Given the description of an element on the screen output the (x, y) to click on. 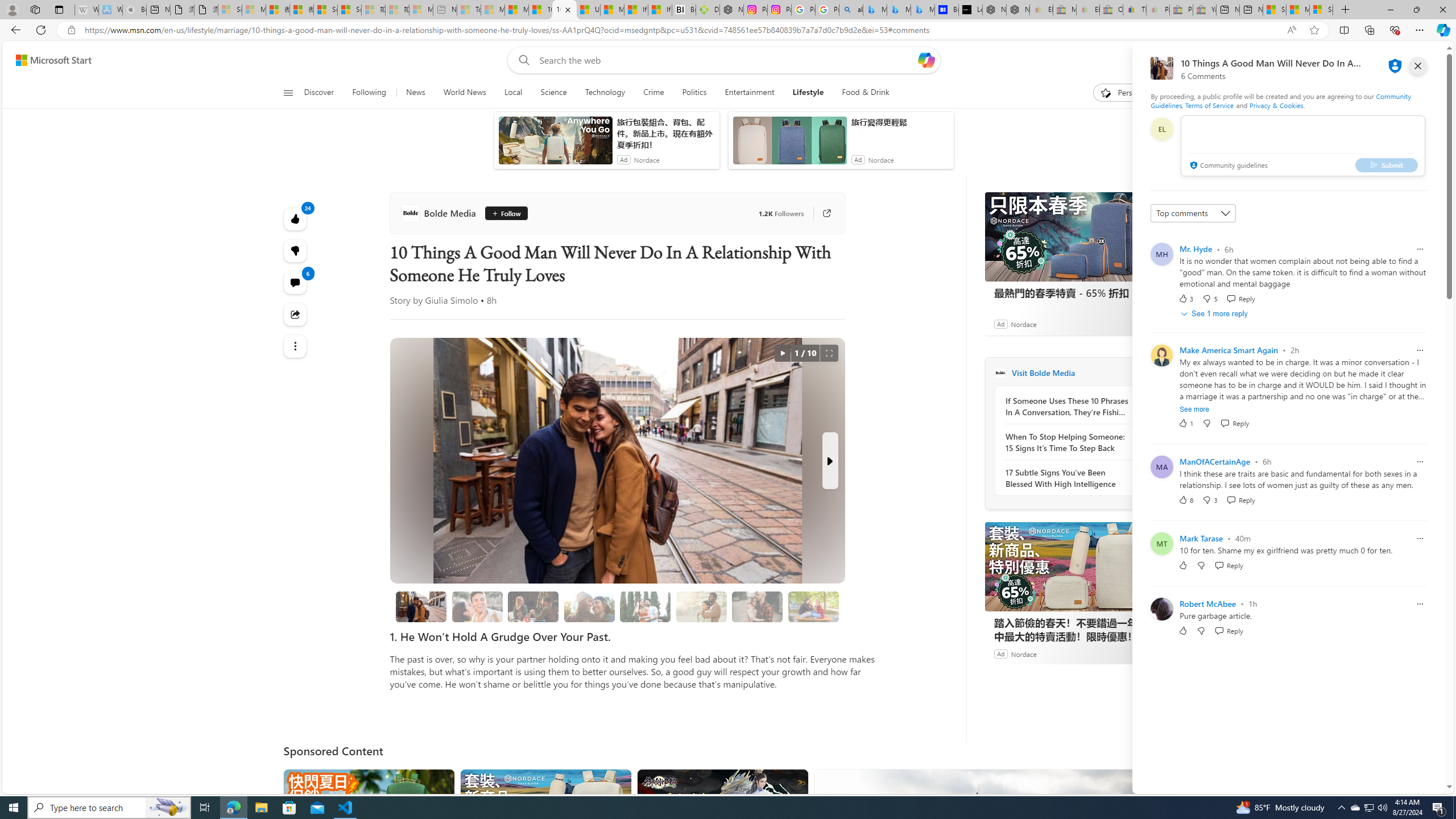
Open Copilot (926, 59)
Press Room - eBay Inc. - Sleeping (1181, 9)
Threats and offensive language policy | eBay (1134, 9)
Community Guidelines (1280, 100)
24 (295, 250)
Notifications (1397, 60)
Report comment (1419, 603)
Mark Tarase (1201, 538)
alabama high school quarterback dies - Search (850, 9)
Lifestyle (808, 92)
Profile Picture (1161, 608)
Bolde Media (440, 212)
Next Slide (829, 460)
